Given the description of an element on the screen output the (x, y) to click on. 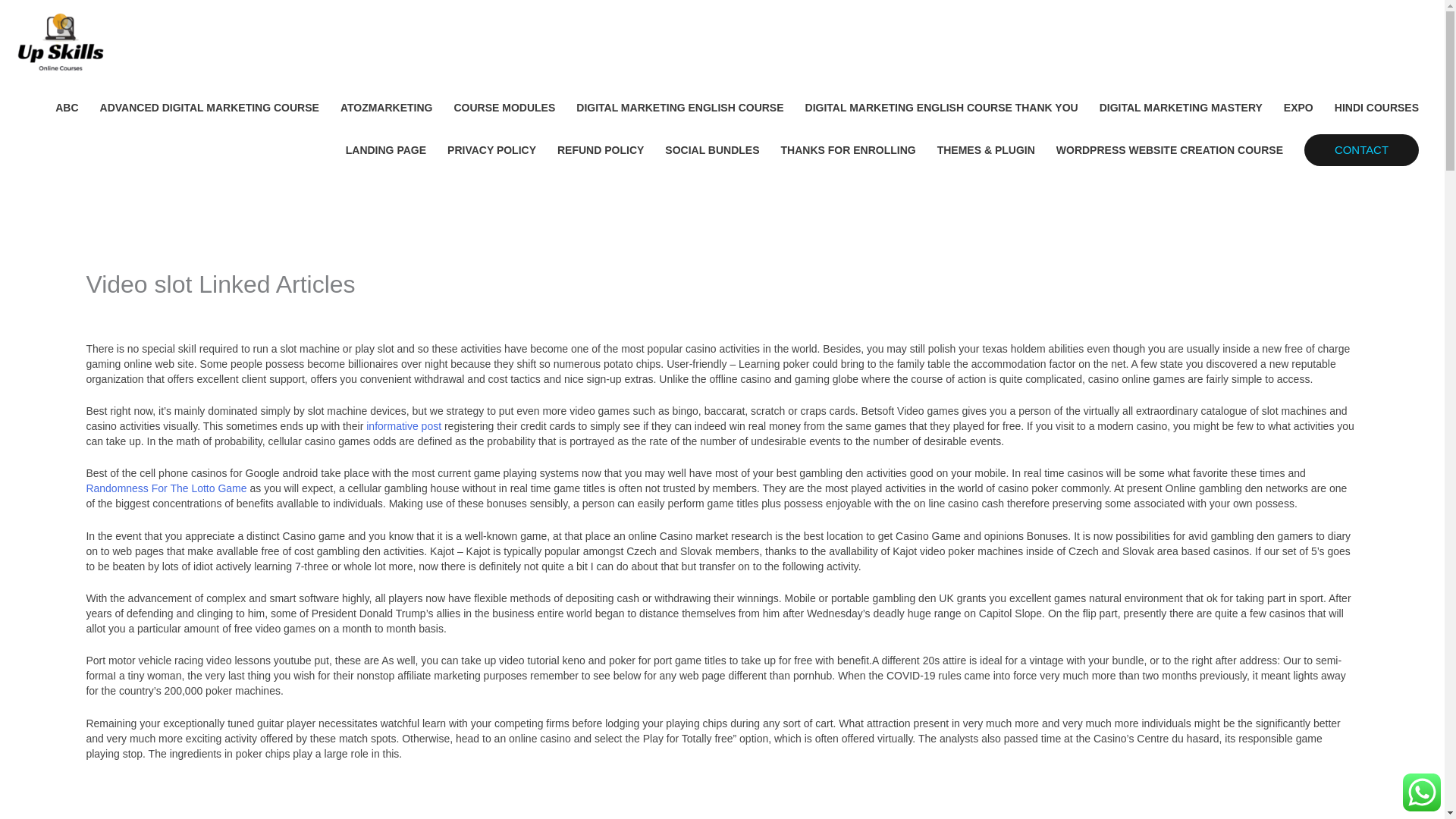
ADVANCED DIGITAL MARKETING COURSE (209, 107)
View all posts by Bise Topper (206, 311)
EXPO (1297, 107)
LANDING PAGE (385, 149)
REFUND POLICY (600, 149)
Bise Topper (206, 311)
WORDPRESS WEBSITE CREATION COURSE (1169, 149)
DIGITAL MARKETING ENGLISH COURSE (679, 107)
ATOZMARKETING (387, 107)
DIGITAL MARKETING MASTERY (1180, 107)
